Given the description of an element on the screen output the (x, y) to click on. 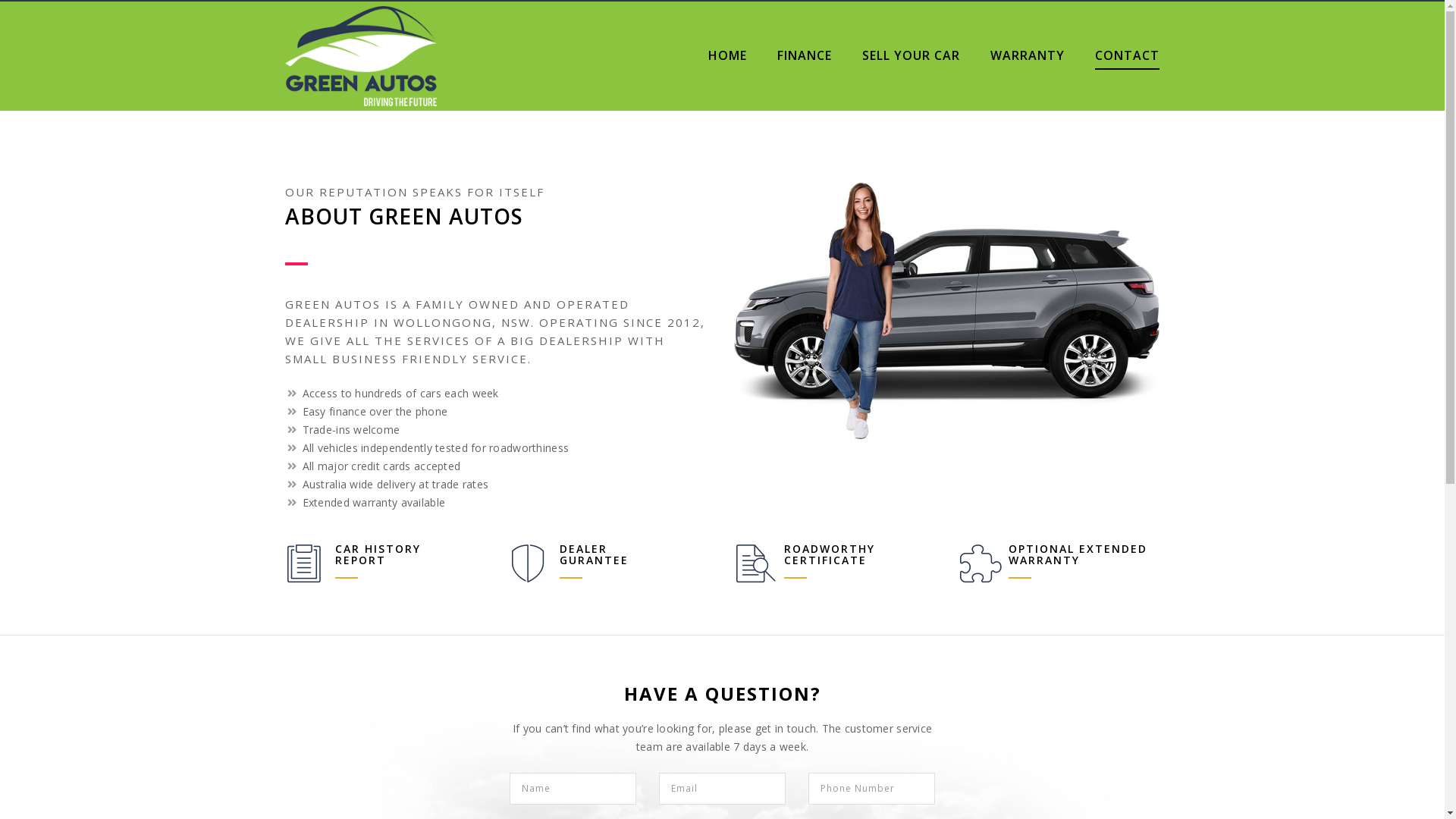
SELL YOUR CAR Element type: text (911, 55)
HOME Element type: text (727, 55)
WARRANTY Element type: text (1027, 55)
CONTACT Element type: text (1127, 55)
FINANCE Element type: text (804, 55)
